Given the description of an element on the screen output the (x, y) to click on. 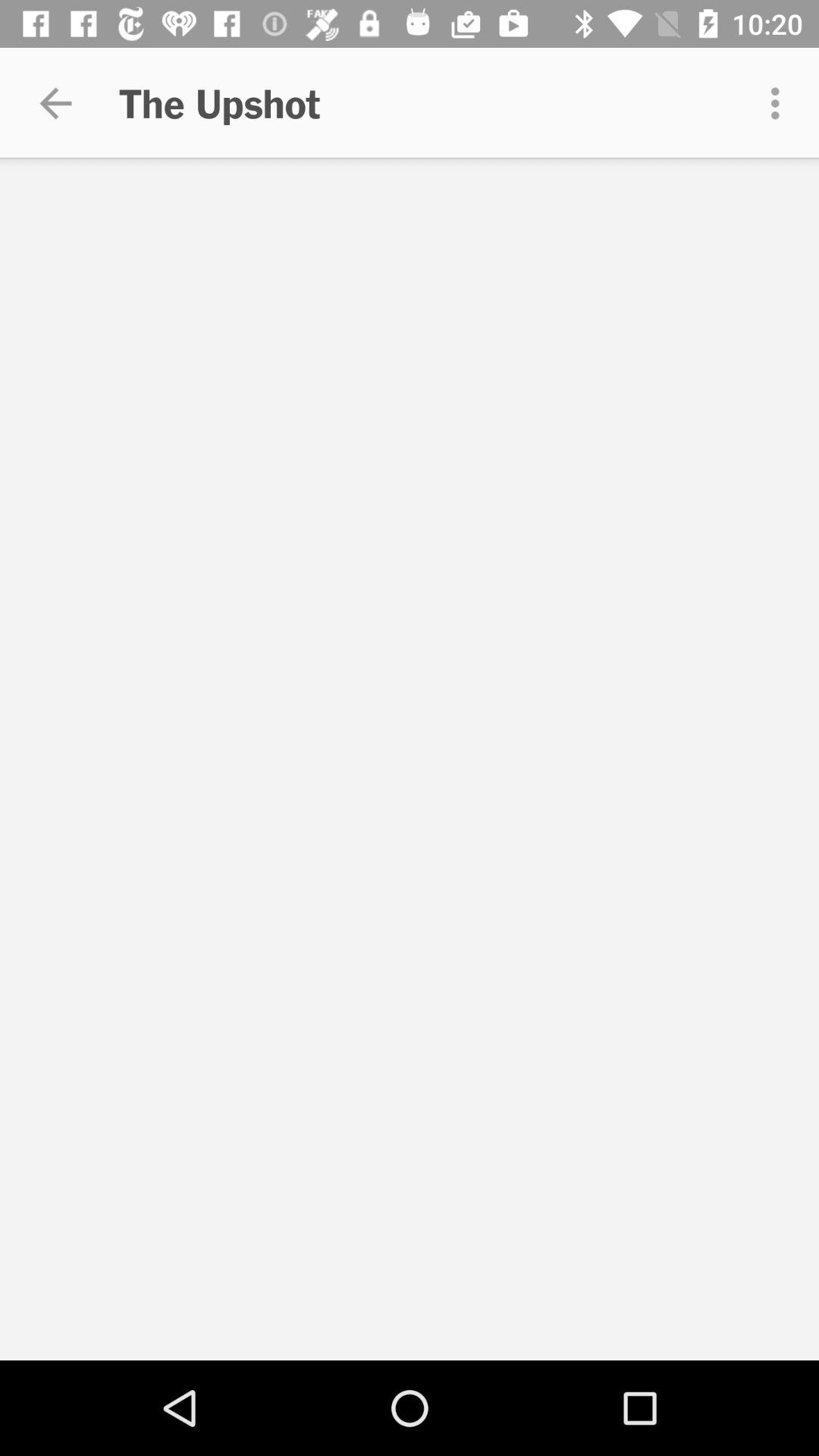
open app next to the upshot item (779, 103)
